Given the description of an element on the screen output the (x, y) to click on. 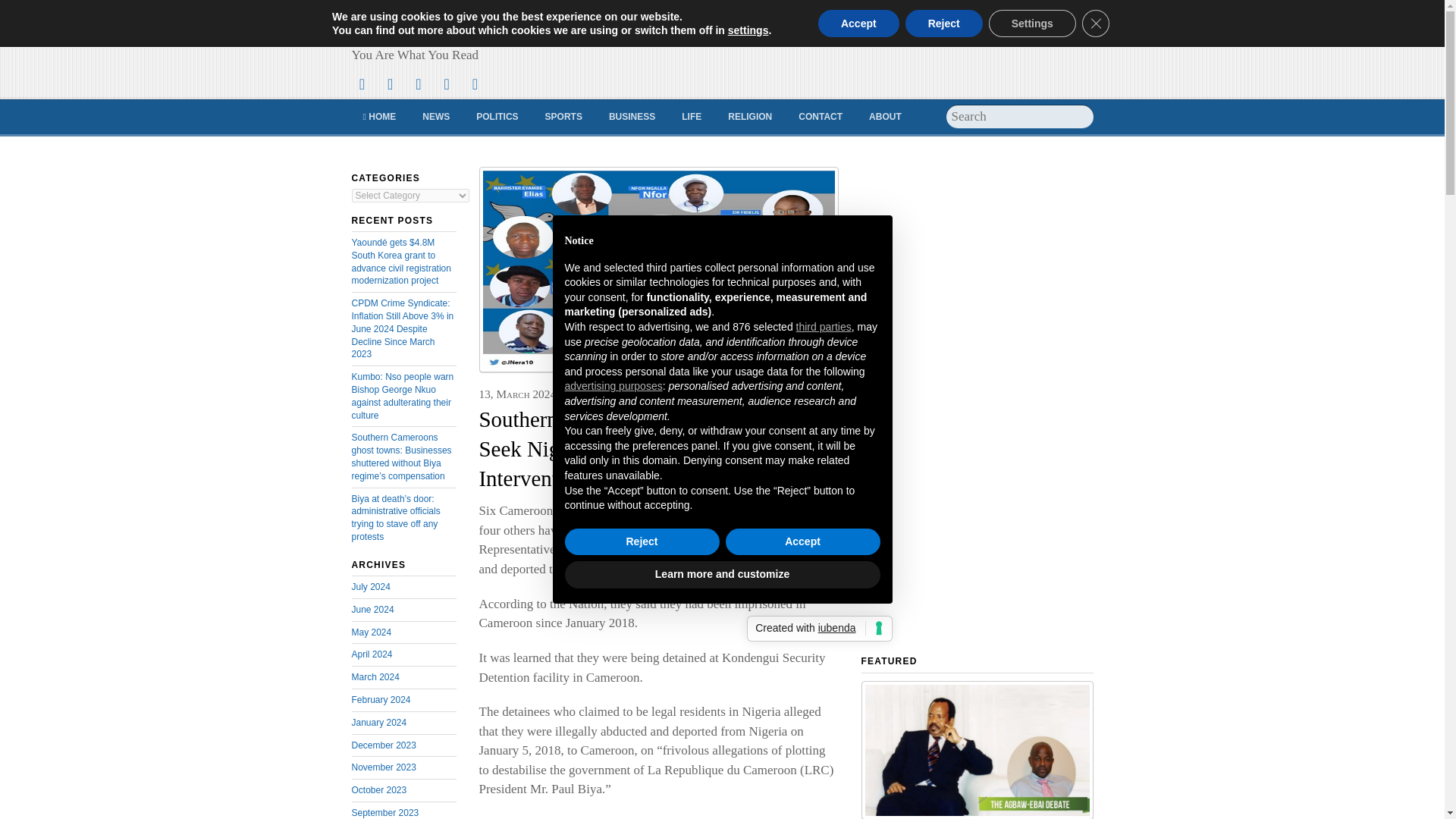
BUSINESS (631, 116)
HOME (379, 116)
LIFE (691, 116)
Cameroon Concord News (489, 29)
NEWS (435, 116)
NERA 10 (658, 269)
YouTube (446, 83)
Cameroon Concord News (489, 29)
Linkedin (474, 83)
ABOUT (884, 116)
CONTACT (820, 116)
RELIGION (749, 116)
Agbaw-Ebai Debate (977, 749)
POLITICS (496, 116)
Twitter (362, 83)
